Given the description of an element on the screen output the (x, y) to click on. 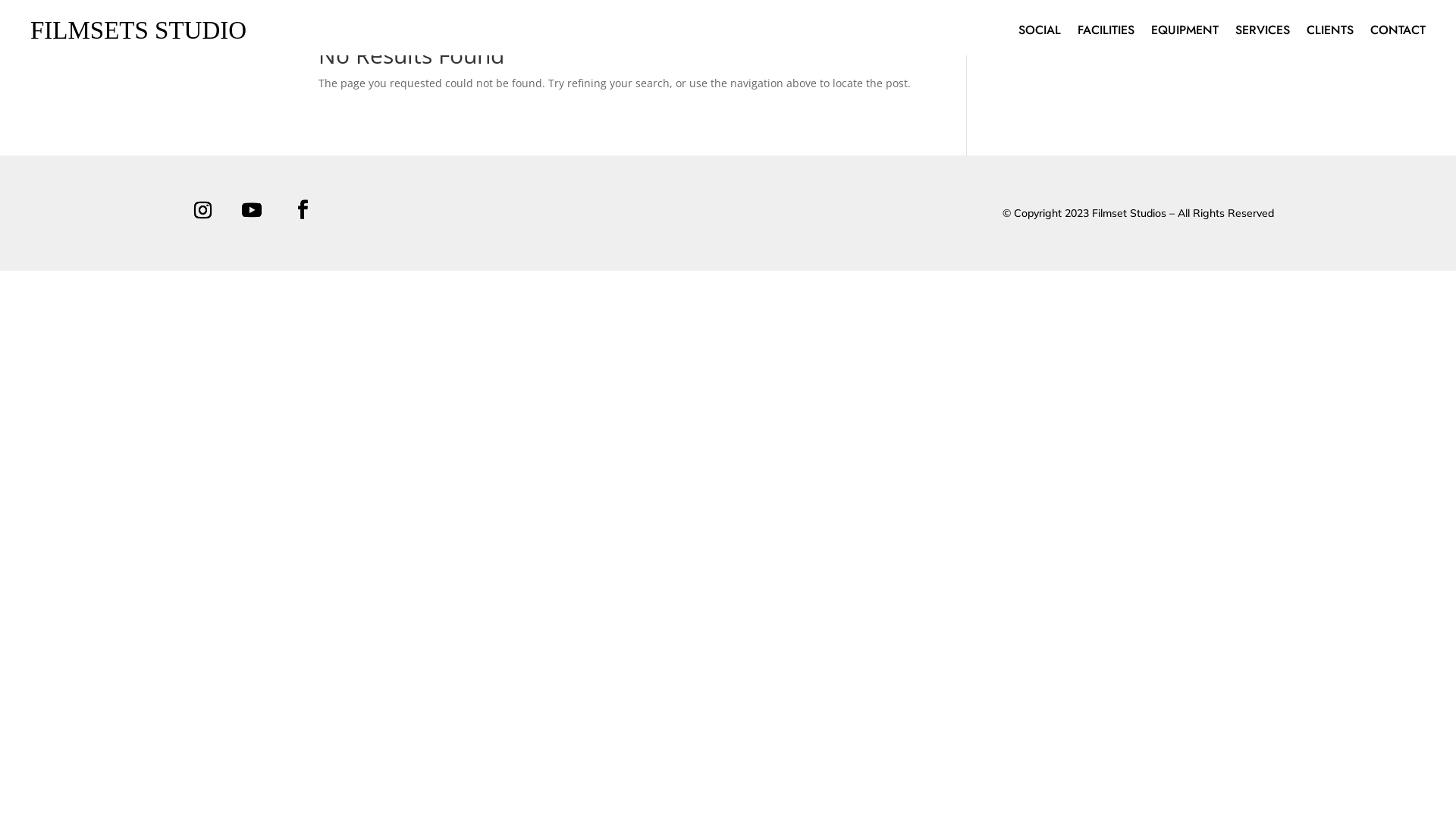
CLIENTS Element type: text (1329, 33)
CONTACT Element type: text (1397, 33)
FACILITIES Element type: text (1105, 33)
Follow on Facebook Element type: hover (302, 210)
SERVICES Element type: text (1262, 33)
SOCIAL Element type: text (1039, 33)
EQUIPMENT Element type: text (1184, 33)
Follow on Youtube Element type: hover (251, 209)
Follow on Instagram Element type: hover (202, 209)
